Given the description of an element on the screen output the (x, y) to click on. 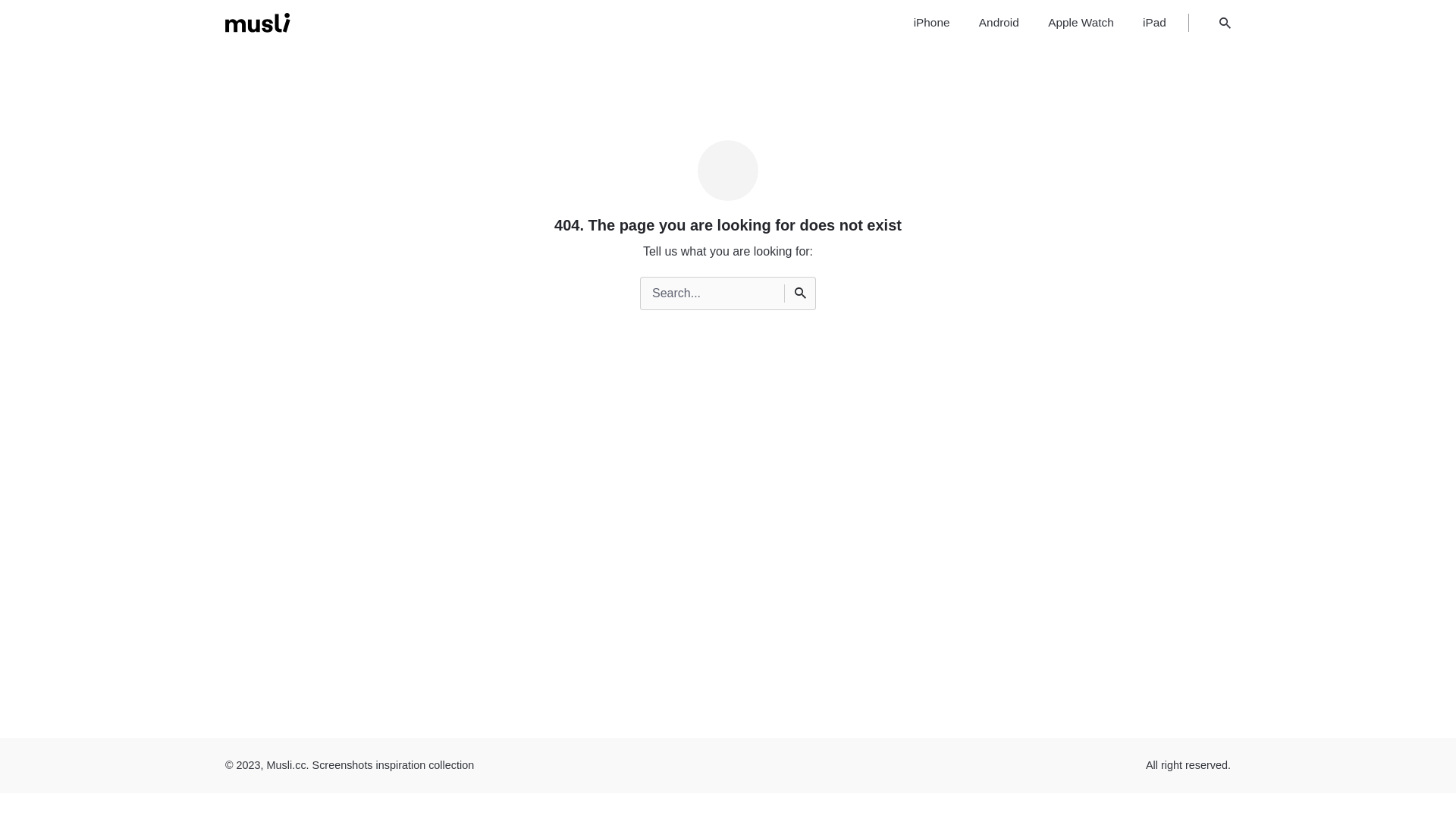
Android Element type: text (998, 22)
iPhone Element type: text (930, 22)
iPad Element type: text (1154, 22)
Apple Watch Element type: text (1080, 22)
